Given the description of an element on the screen output the (x, y) to click on. 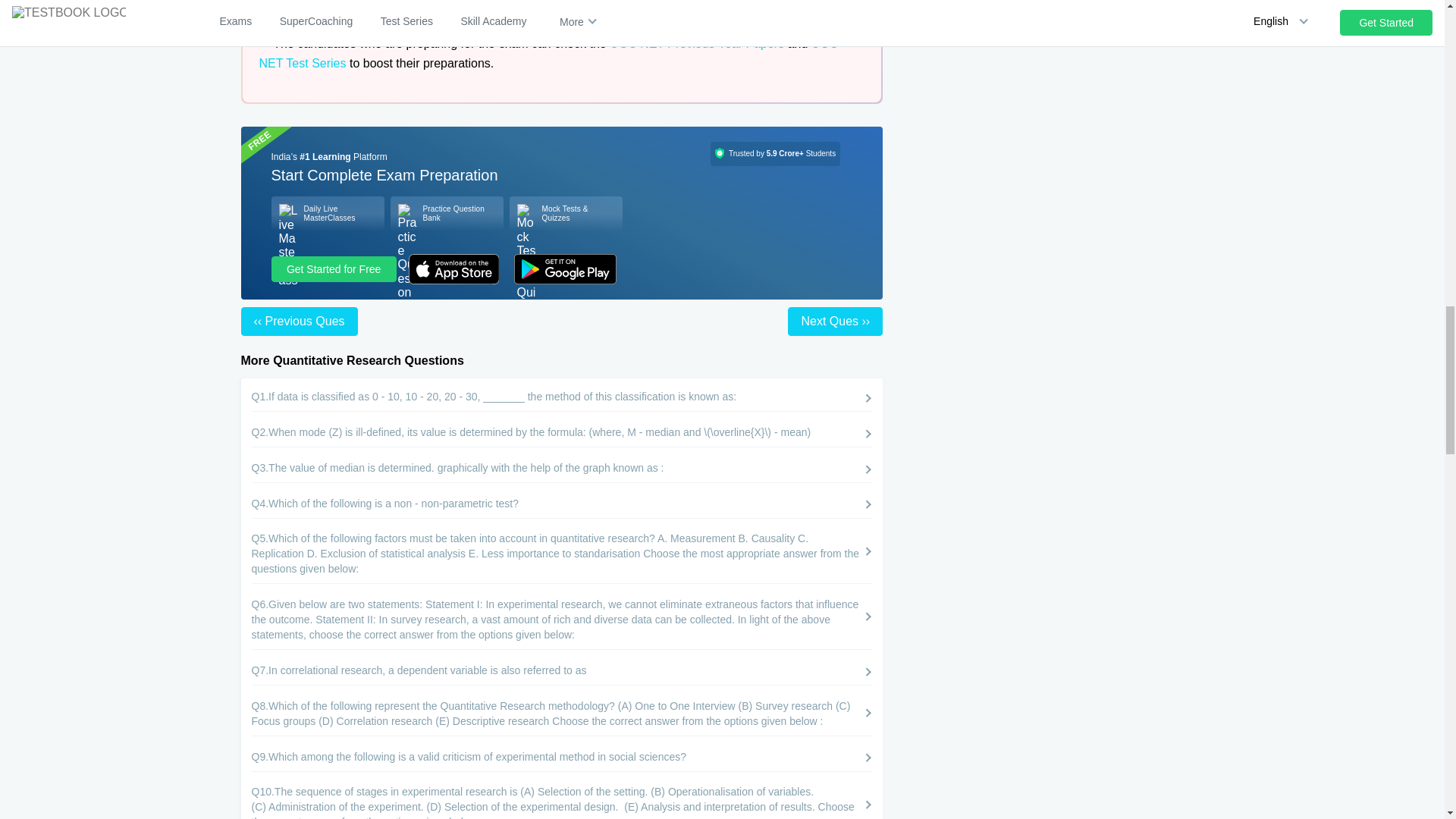
UGC NET Test Series (548, 52)
Get Started for Free (333, 268)
UGC NET Previous Year Papers (697, 42)
